Given the description of an element on the screen output the (x, y) to click on. 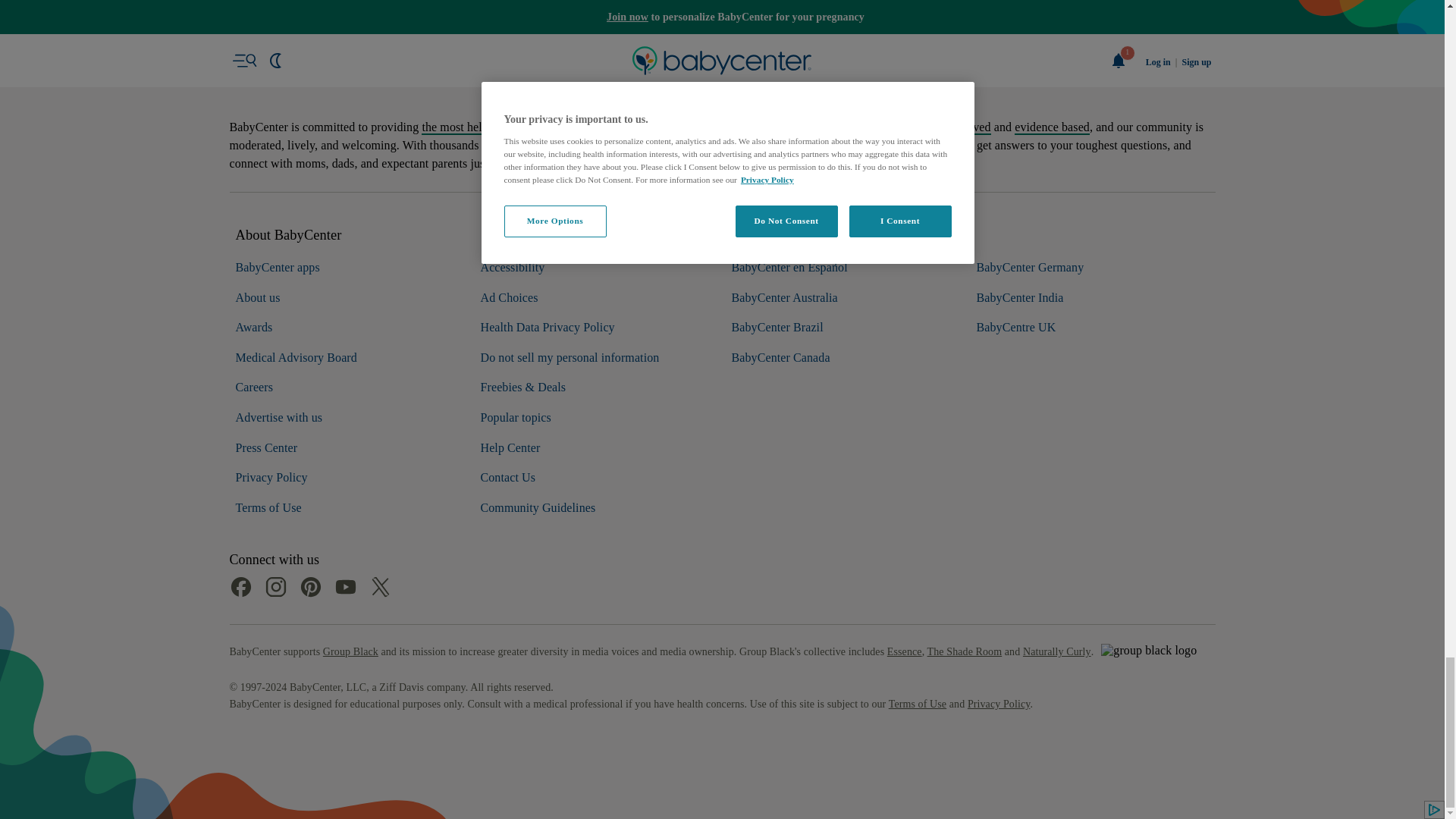
BabyCenter Facebook page (239, 732)
BabyCenter Instagram feed (274, 732)
BabyCenter Twitter feed (379, 732)
BabyCenter Pinterest board (309, 732)
BabyCenter YouTube channel (344, 732)
